Given the description of an element on the screen output the (x, y) to click on. 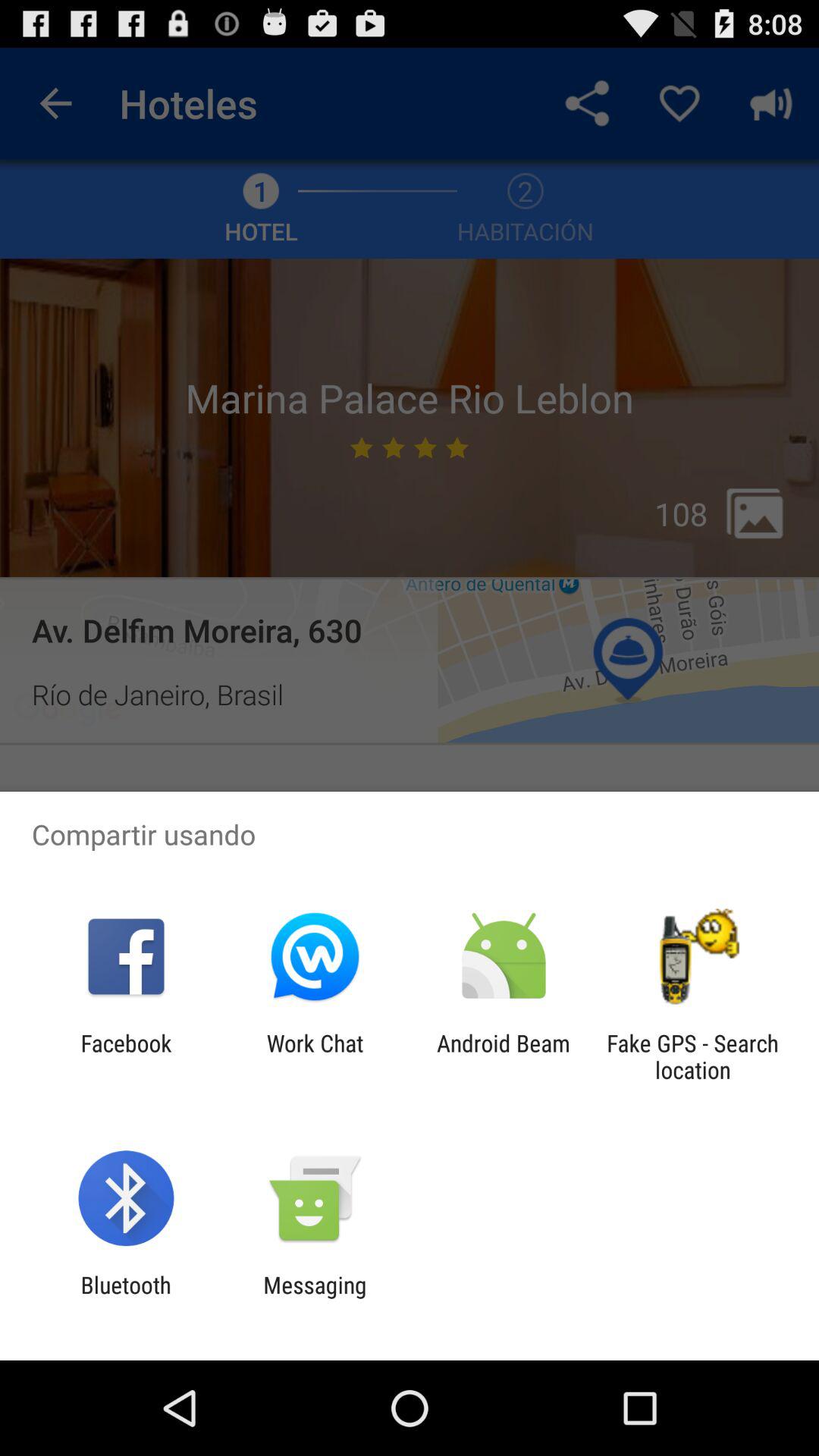
tap messaging icon (314, 1298)
